Given the description of an element on the screen output the (x, y) to click on. 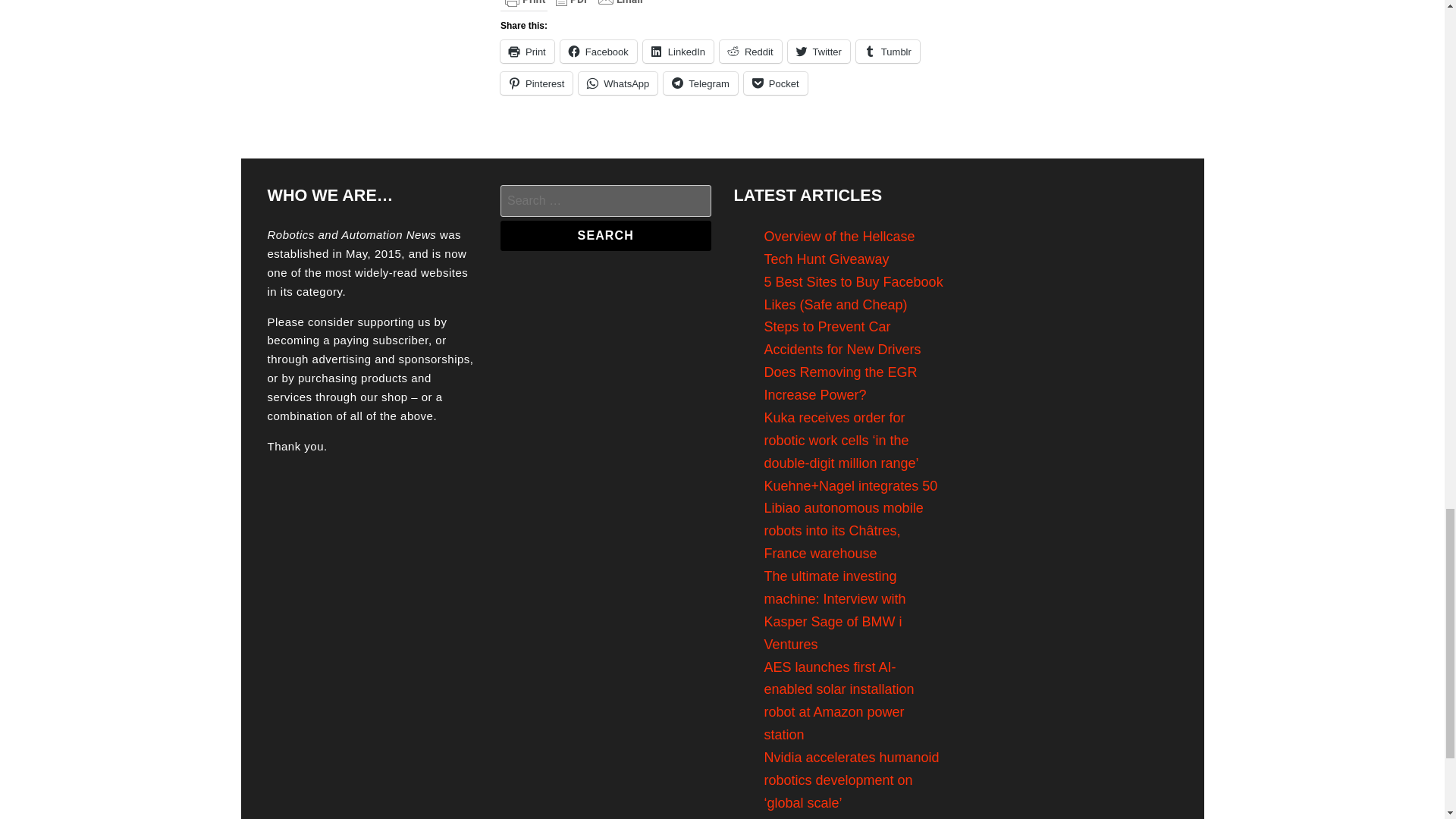
Click to share on Pinterest (536, 83)
Click to share on Twitter (818, 51)
Click to share on Reddit (750, 51)
Click to share on Telegram (699, 83)
Click to share on Tumblr (888, 51)
Search (605, 235)
Click to share on WhatsApp (618, 83)
Search (605, 235)
Click to share on Facebook (598, 51)
Click to share on LinkedIn (678, 51)
Click to share on Pocket (776, 83)
Click to print (527, 51)
